Given the description of an element on the screen output the (x, y) to click on. 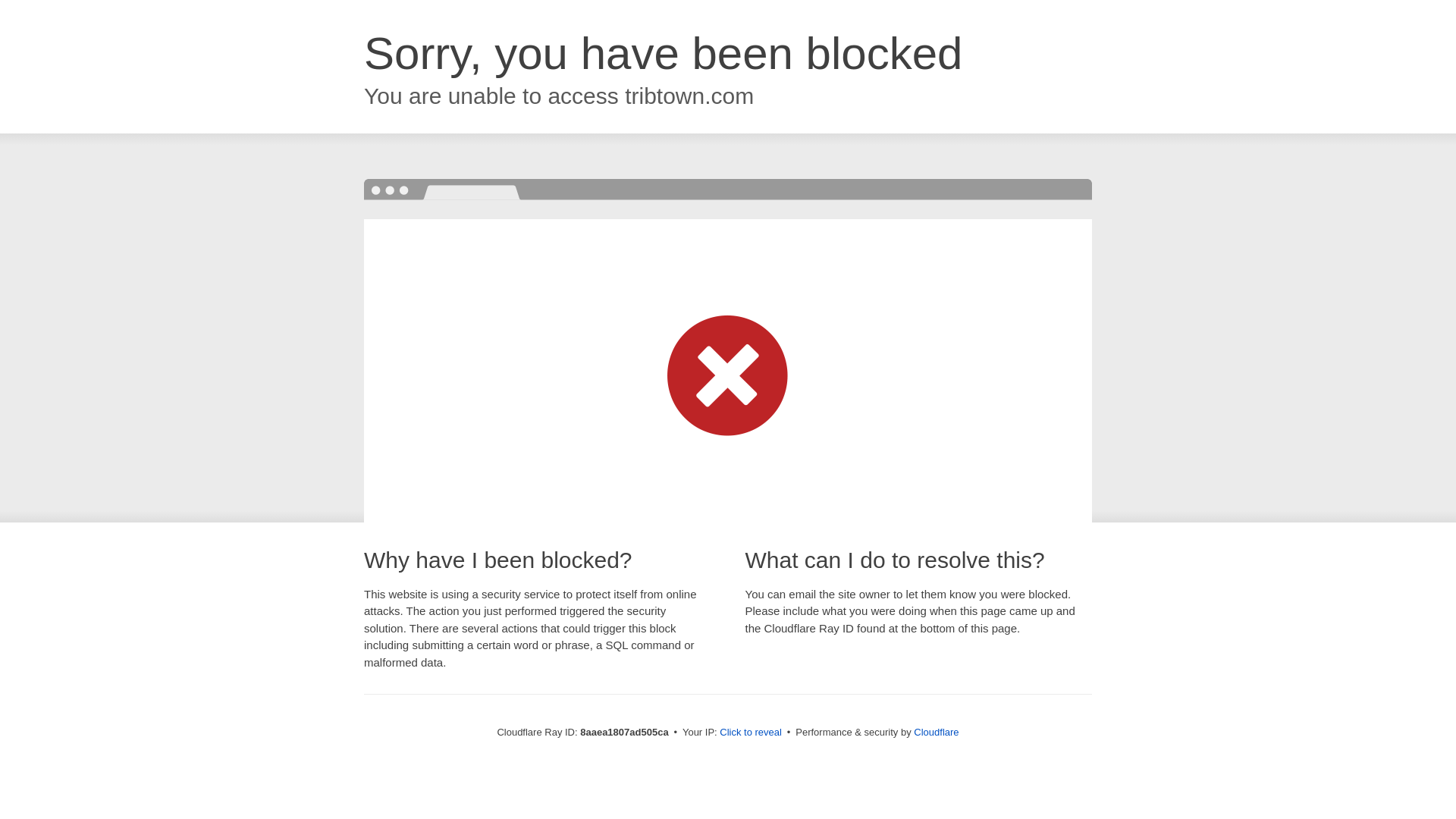
Cloudflare (936, 731)
Click to reveal (750, 732)
